Given the description of an element on the screen output the (x, y) to click on. 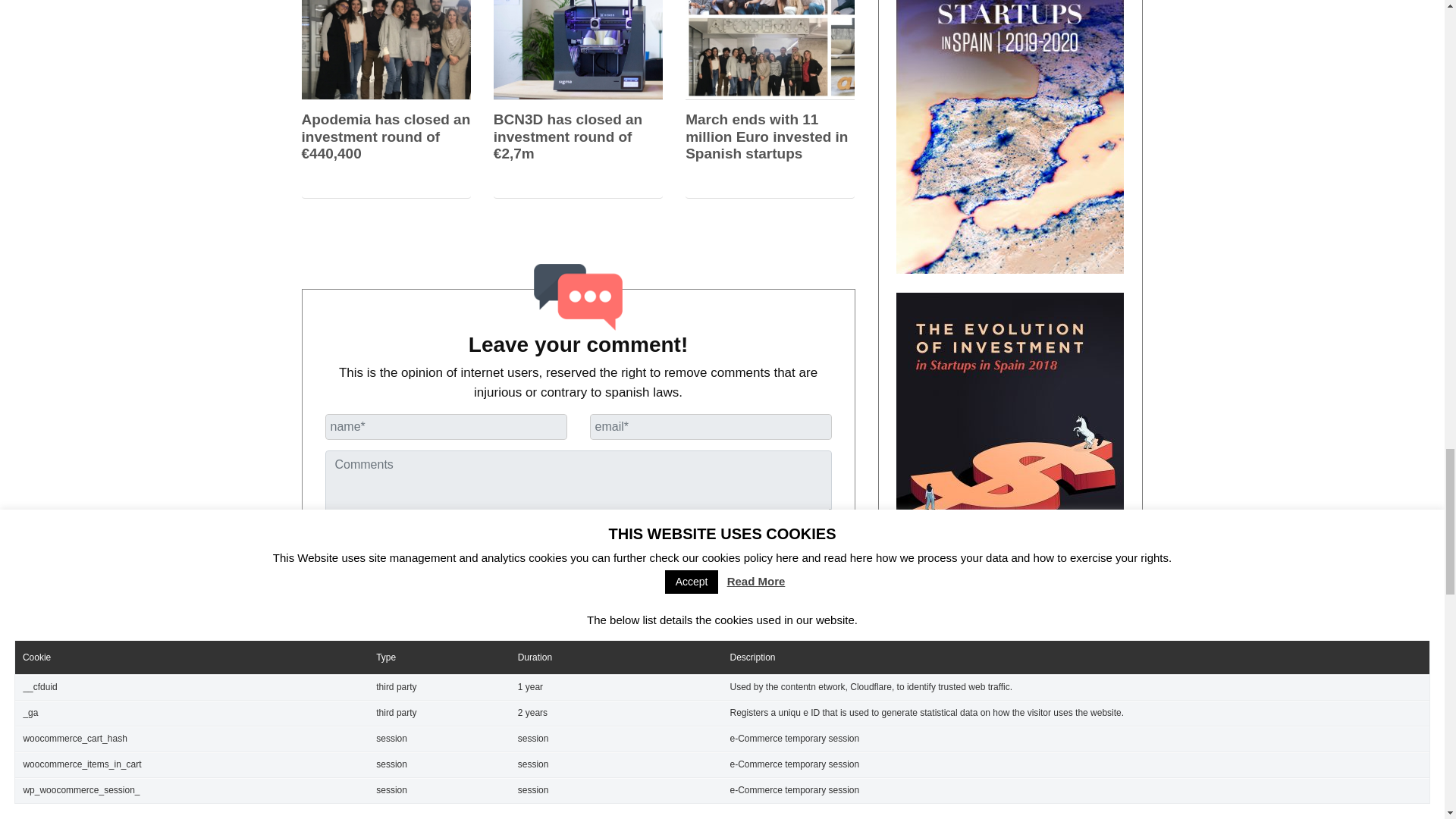
Post Comment (378, 546)
